Given the description of an element on the screen output the (x, y) to click on. 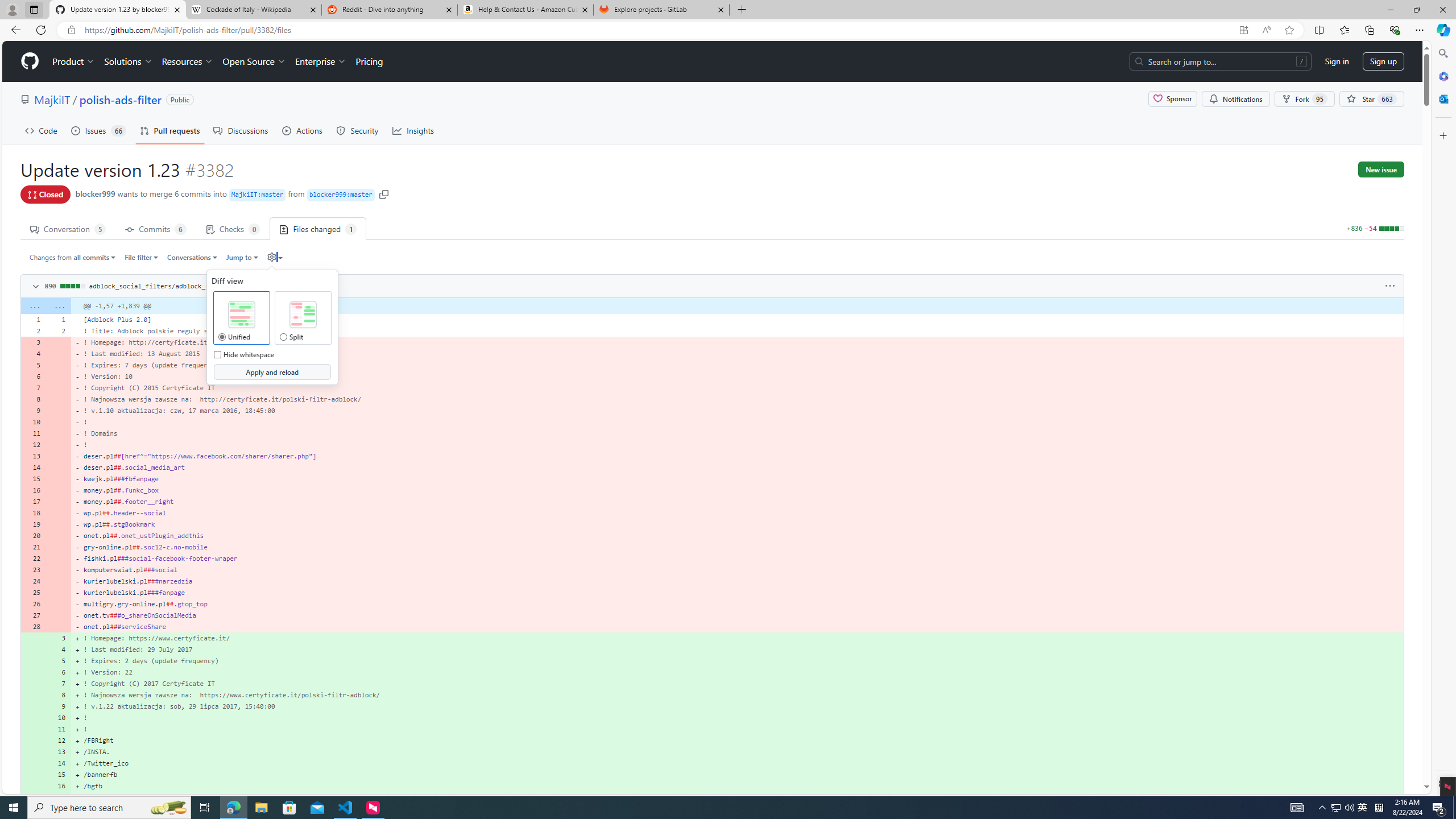
22 (33, 558)
Class: blob-num blob-num-deletion empty-cell (58, 626)
+ /INSTA.  (737, 751)
Open Source (254, 60)
+ /FBRight  (737, 740)
... (58, 305)
[Adblock Plus 2.0] (737, 319)
12 (58, 740)
19 (33, 523)
27 (33, 614)
